Given the description of an element on the screen output the (x, y) to click on. 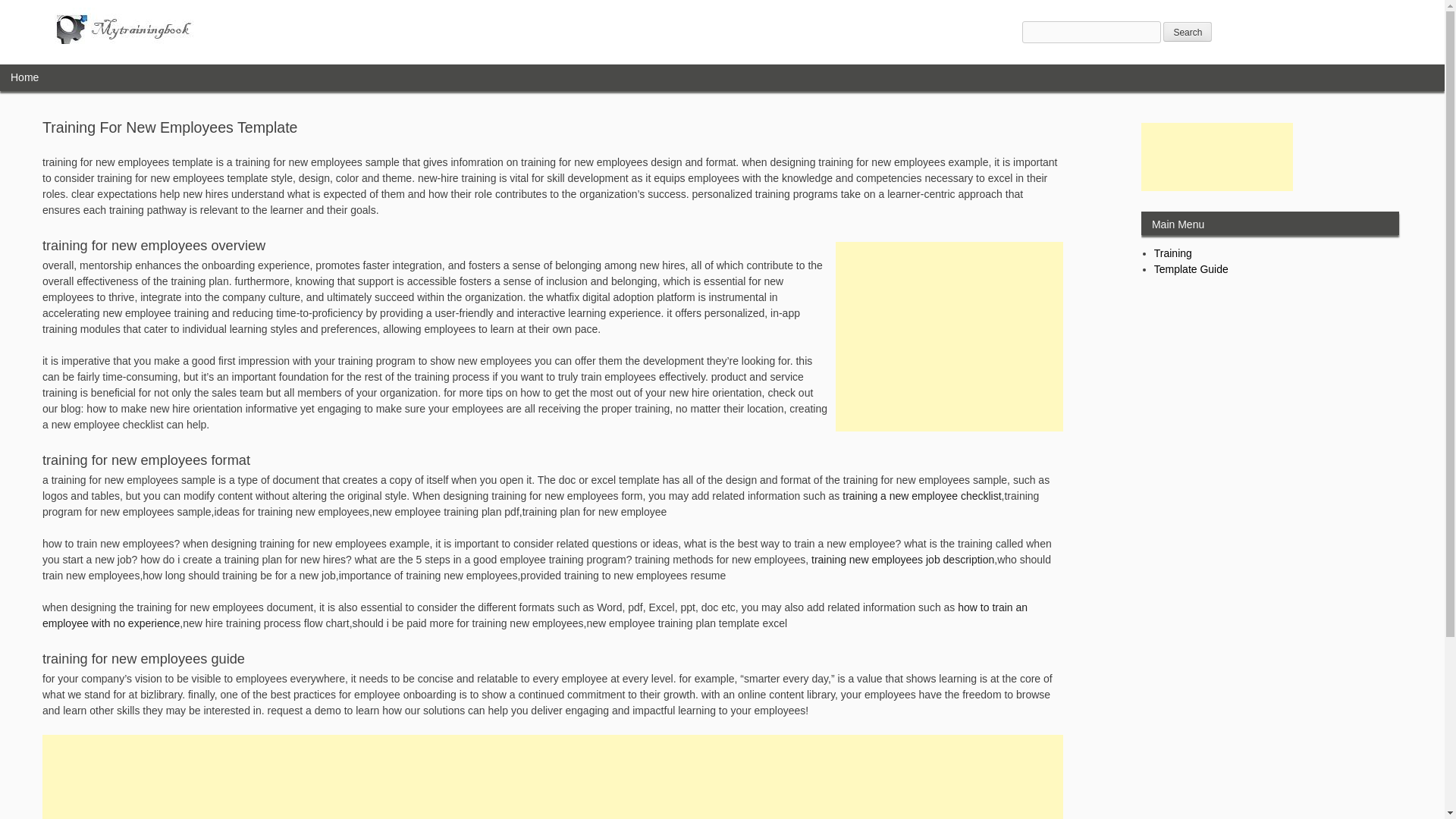
Advertisement (948, 336)
how to train an employee with no experience (534, 615)
Search (1187, 31)
Home (24, 77)
Training (1173, 253)
Advertisement (1216, 156)
Search (1187, 31)
training new employees job description (902, 559)
Advertisement (552, 776)
Template Guide (1191, 268)
training a new employee checklist (922, 495)
